Given the description of an element on the screen output the (x, y) to click on. 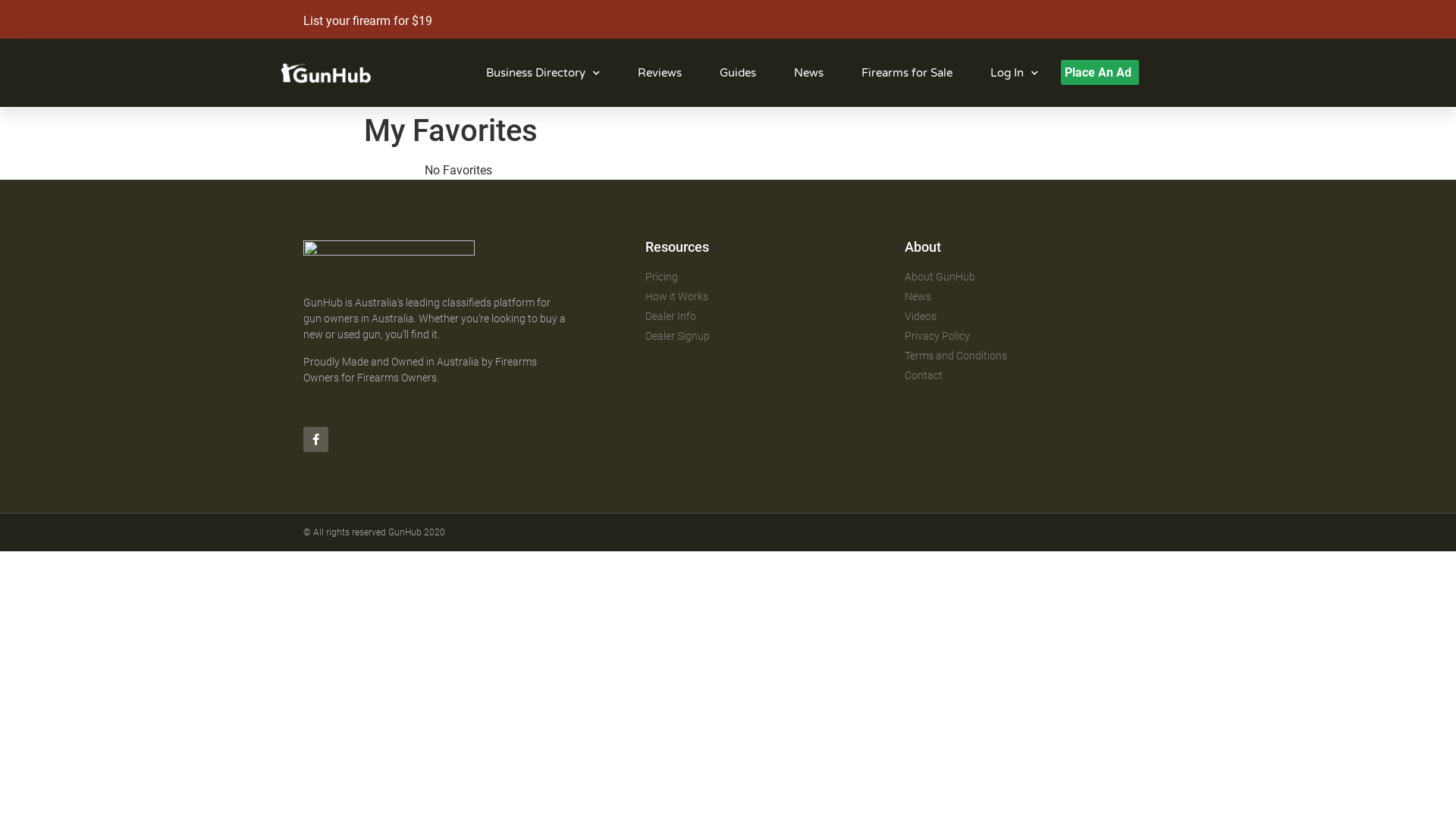
Place An Ad Element type: text (1099, 71)
How it Works Element type: text (767, 296)
Dealer Info Element type: text (767, 316)
Pricing Element type: text (767, 277)
Firearms for Sale Element type: text (906, 72)
About GunHub Element type: text (1026, 277)
Guides Element type: text (737, 72)
Contact Element type: text (1026, 375)
Videos Element type: text (1026, 316)
Dealer Signup Element type: text (767, 336)
Privacy Policy Element type: text (1026, 336)
News Element type: text (1026, 296)
Terms and Conditions Element type: text (1026, 356)
Business Directory Element type: text (542, 72)
Reviews Element type: text (659, 72)
News Element type: text (808, 72)
Log In Element type: text (1014, 72)
